Given the description of an element on the screen output the (x, y) to click on. 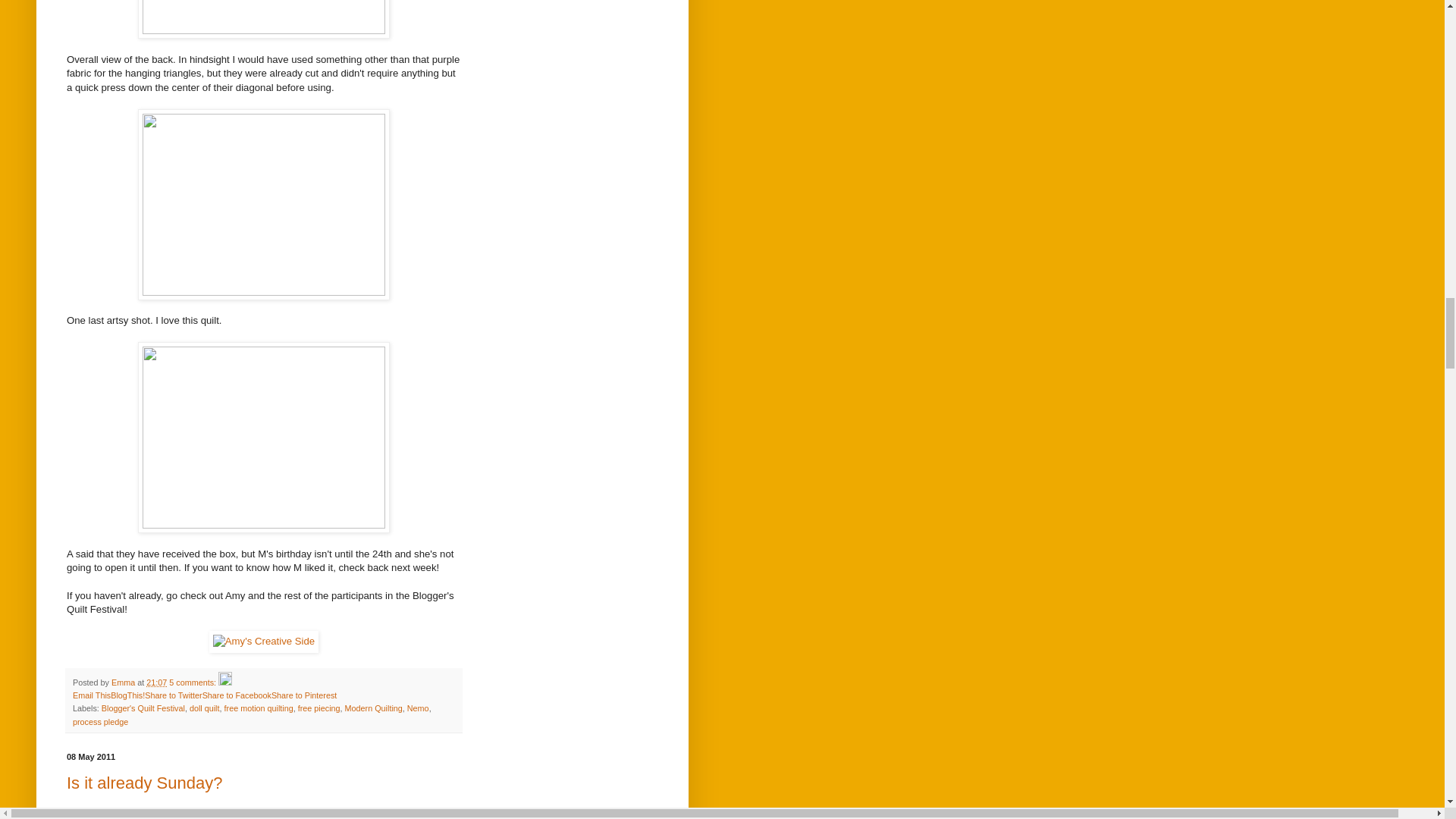
Email This (91, 695)
process pledge (100, 721)
Share to Facebook (236, 695)
doll quilt (204, 707)
Share to Pinterest (303, 695)
Share to Facebook (236, 695)
Nemo (418, 707)
free piecing (319, 707)
Is it already Sunday? (144, 782)
Blogger's Quilt Festival (142, 707)
Share to Pinterest (303, 695)
free motion quilting (259, 707)
BlogThis! (127, 695)
Share to Twitter (173, 695)
Email This (91, 695)
